Given the description of an element on the screen output the (x, y) to click on. 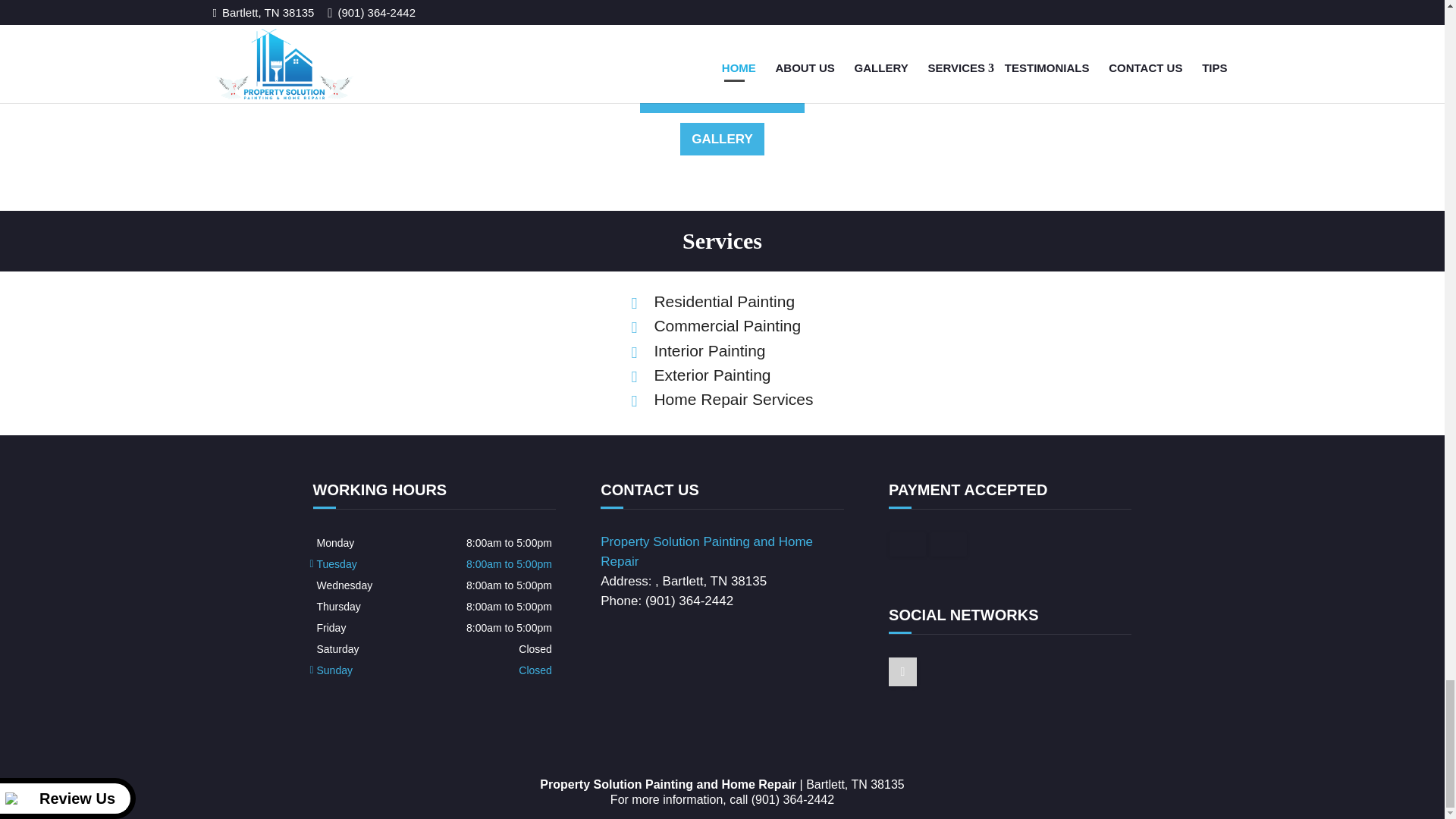
check payment accepted (948, 544)
READ MORE REVIEWS (722, 96)
GALLERY (722, 139)
cash payment accepted (907, 544)
